Given the description of an element on the screen output the (x, y) to click on. 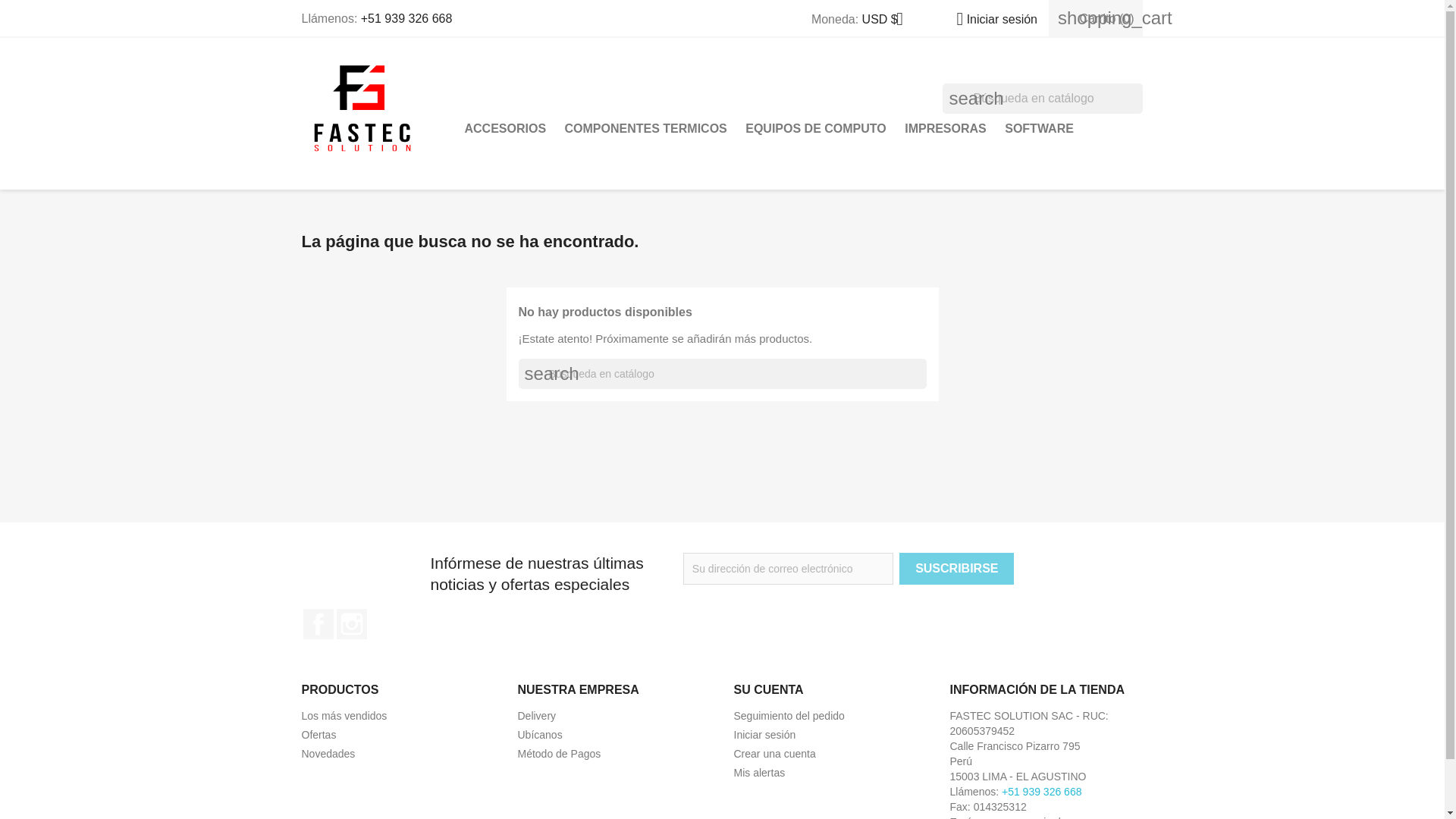
Delivery (536, 715)
Novedades (328, 753)
Ofertas (318, 734)
Acceda a su cuenta de cliente (764, 734)
Nuestros productos especiales (318, 734)
Facebook (317, 624)
Suscribirse (956, 568)
Novedades (328, 753)
Crear una cuenta (774, 753)
ACCESORIOS (505, 128)
Acceda a su cuenta de cliente (990, 19)
EQUIPOS DE COMPUTO (815, 128)
Mis alertas (759, 772)
Suscribirse (956, 568)
IMPRESORAS (945, 128)
